Given the description of an element on the screen output the (x, y) to click on. 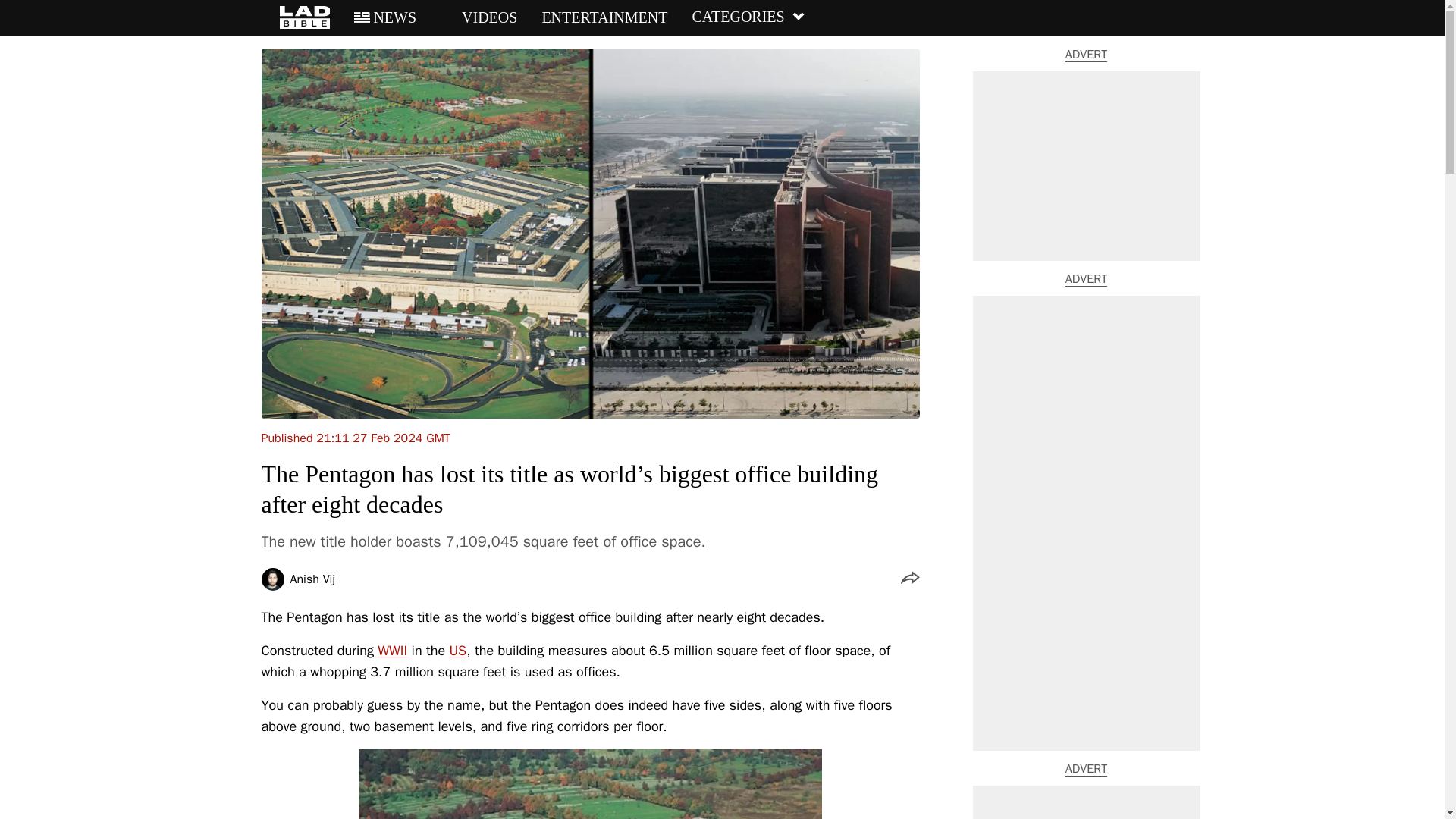
ENTERTAINMENT (603, 17)
CATEGORIES (748, 17)
NEWS (384, 17)
VIDEOS (478, 17)
